Given the description of an element on the screen output the (x, y) to click on. 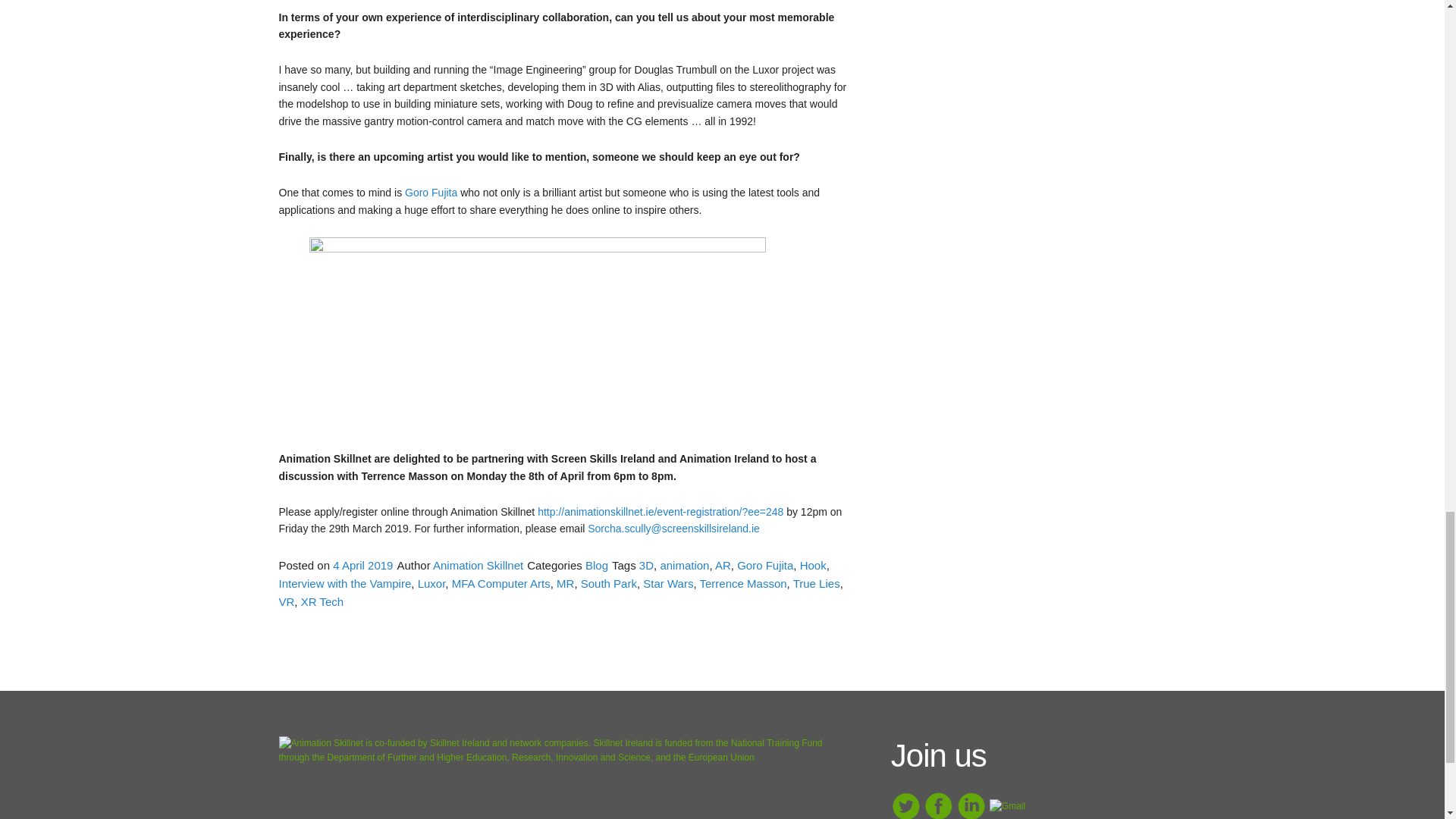
Hook (813, 564)
Goro Fujita (764, 564)
Terrence Masson (743, 583)
True Lies (816, 583)
AR (722, 564)
Goro Fujita (430, 192)
animation (684, 564)
Interview with the Vampire (345, 583)
MFA Computer Arts (500, 583)
Star Wars (668, 583)
Luxor (431, 583)
MR (564, 583)
Blog (596, 564)
4 April 2019 (363, 564)
VR (287, 601)
